Given the description of an element on the screen output the (x, y) to click on. 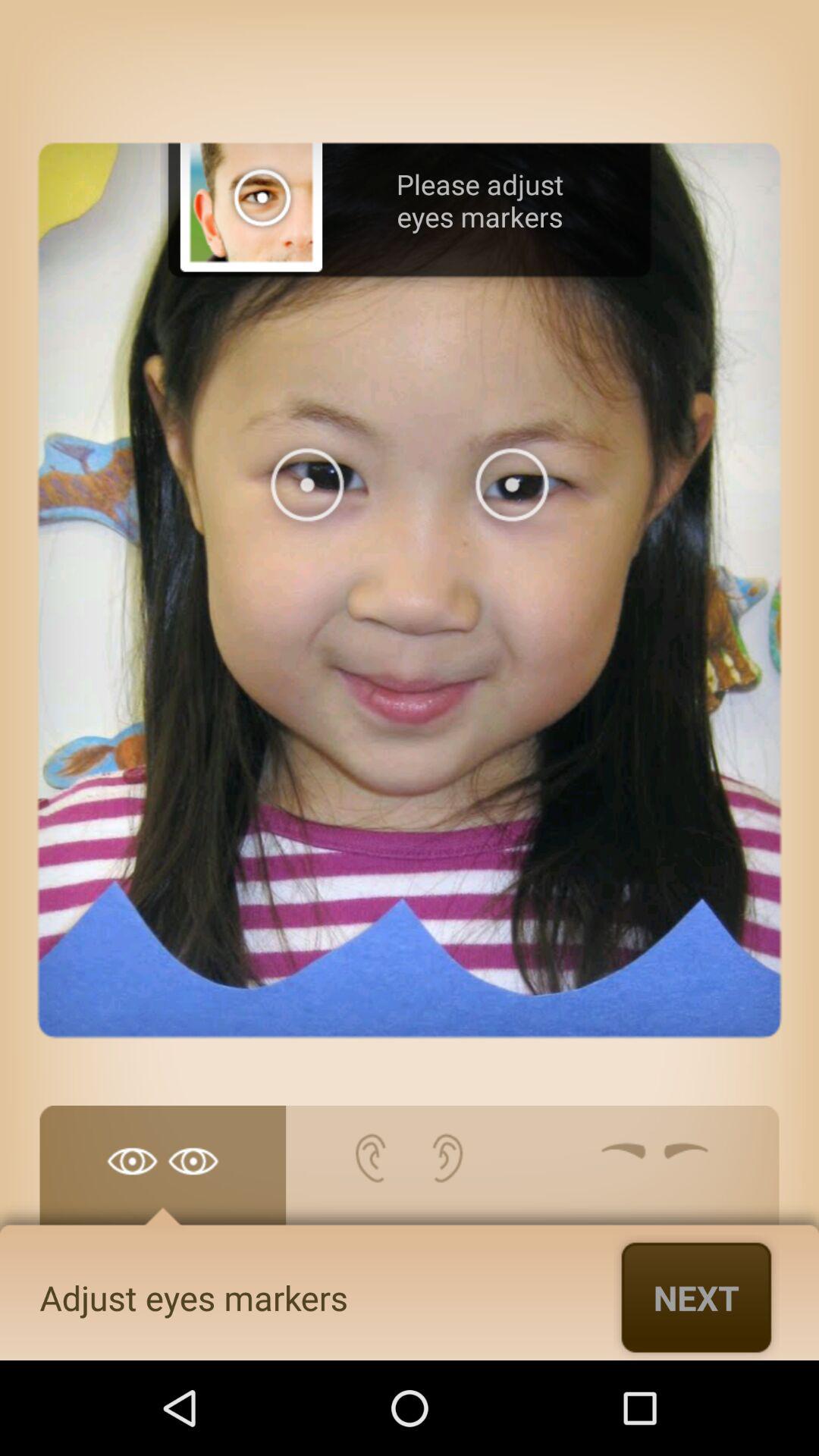
press the next icon (696, 1297)
